Given the description of an element on the screen output the (x, y) to click on. 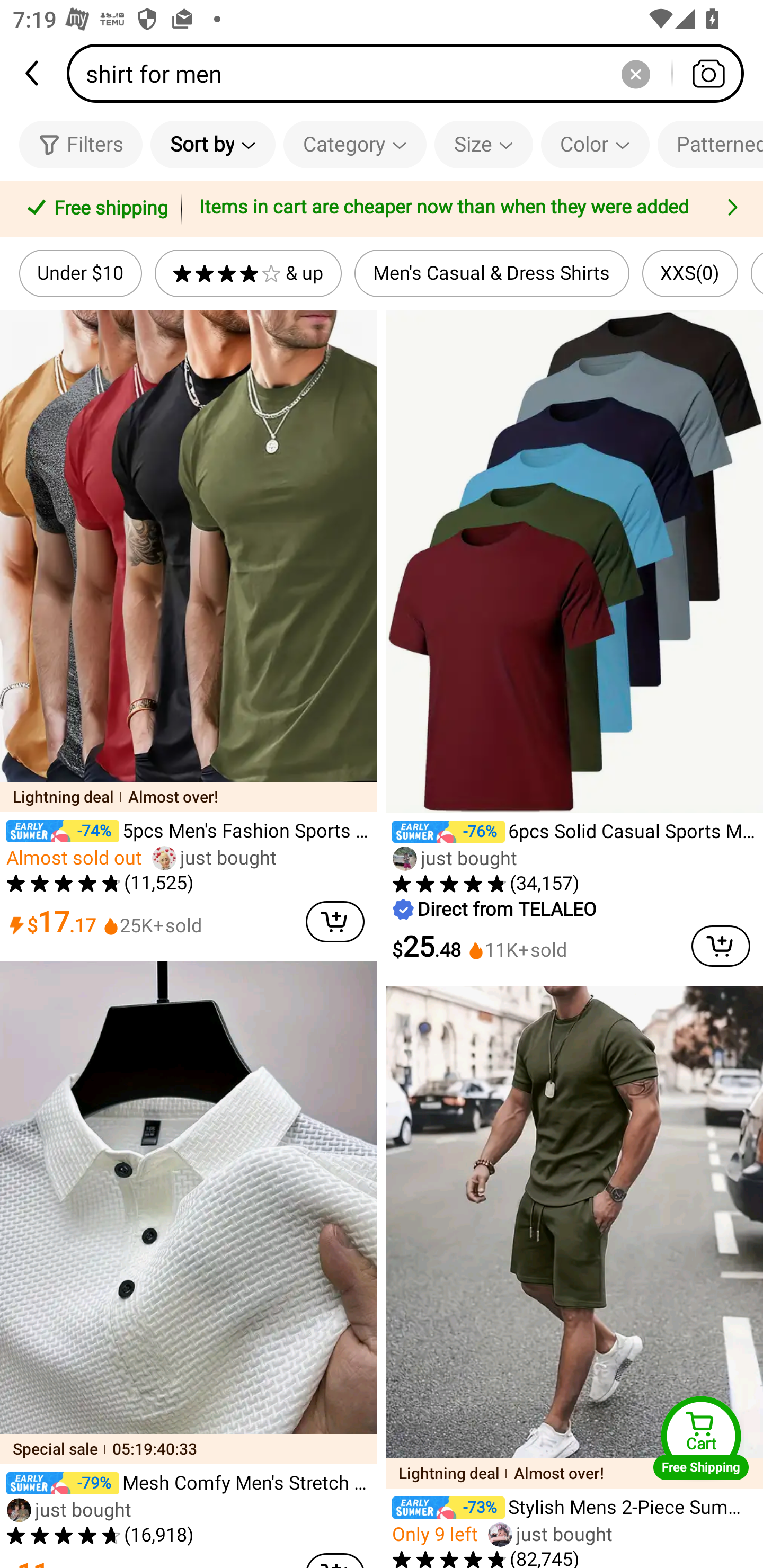
back (33, 72)
shirt for men (411, 73)
Delete search history (635, 73)
Search by photo (708, 73)
Filters (80, 143)
Sort by (212, 143)
Category (354, 143)
Size (483, 143)
Color (594, 143)
Patterned (710, 143)
 Free shipping (93, 208)
Under $10 (80, 273)
& up (247, 273)
Men's Casual & Dress Shirts (491, 273)
XXS(0) (689, 273)
Cart Free Shipping Cart (701, 1437)
